Given the description of an element on the screen output the (x, y) to click on. 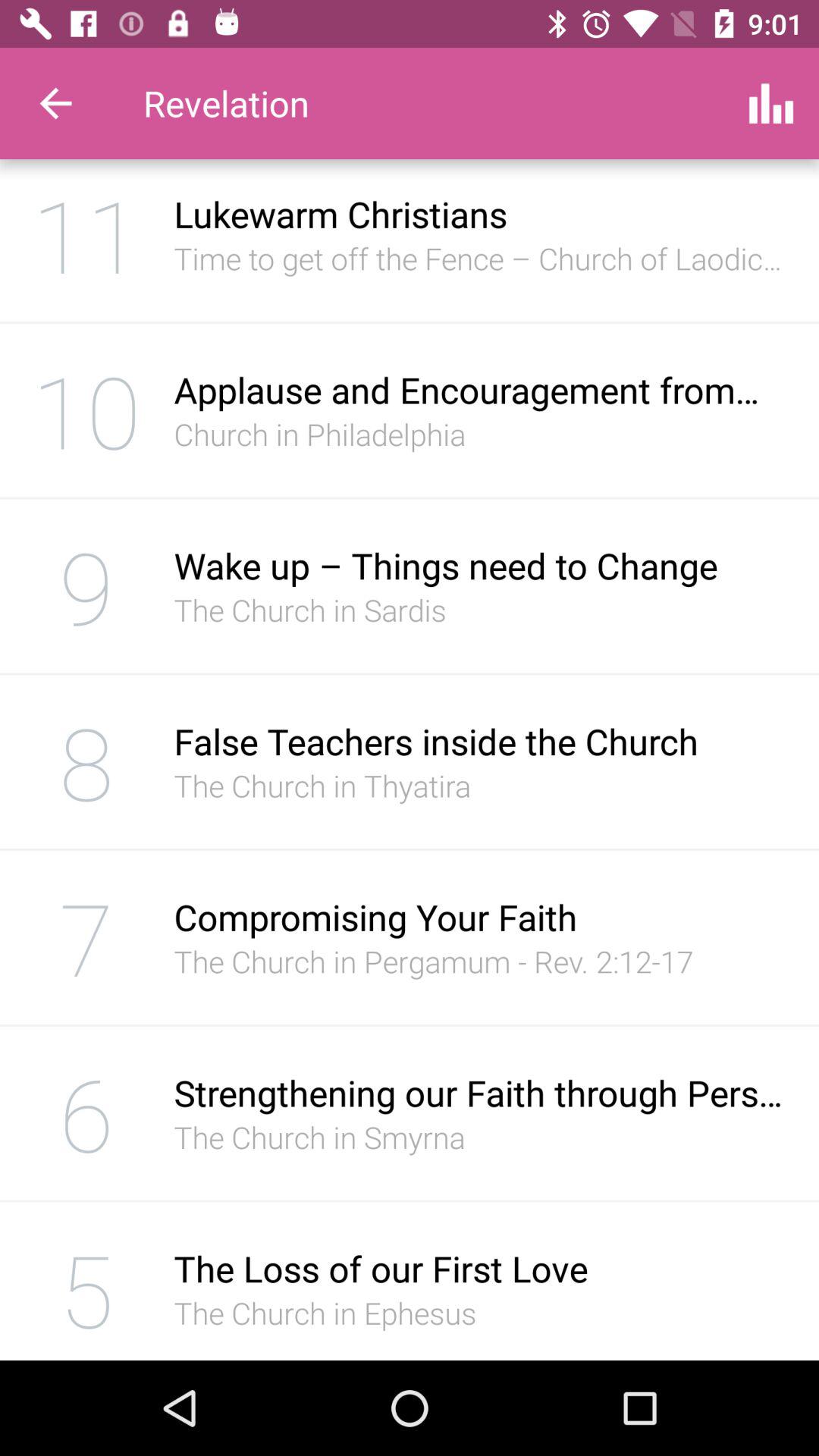
open the strengthening our faith icon (480, 1092)
